Given the description of an element on the screen output the (x, y) to click on. 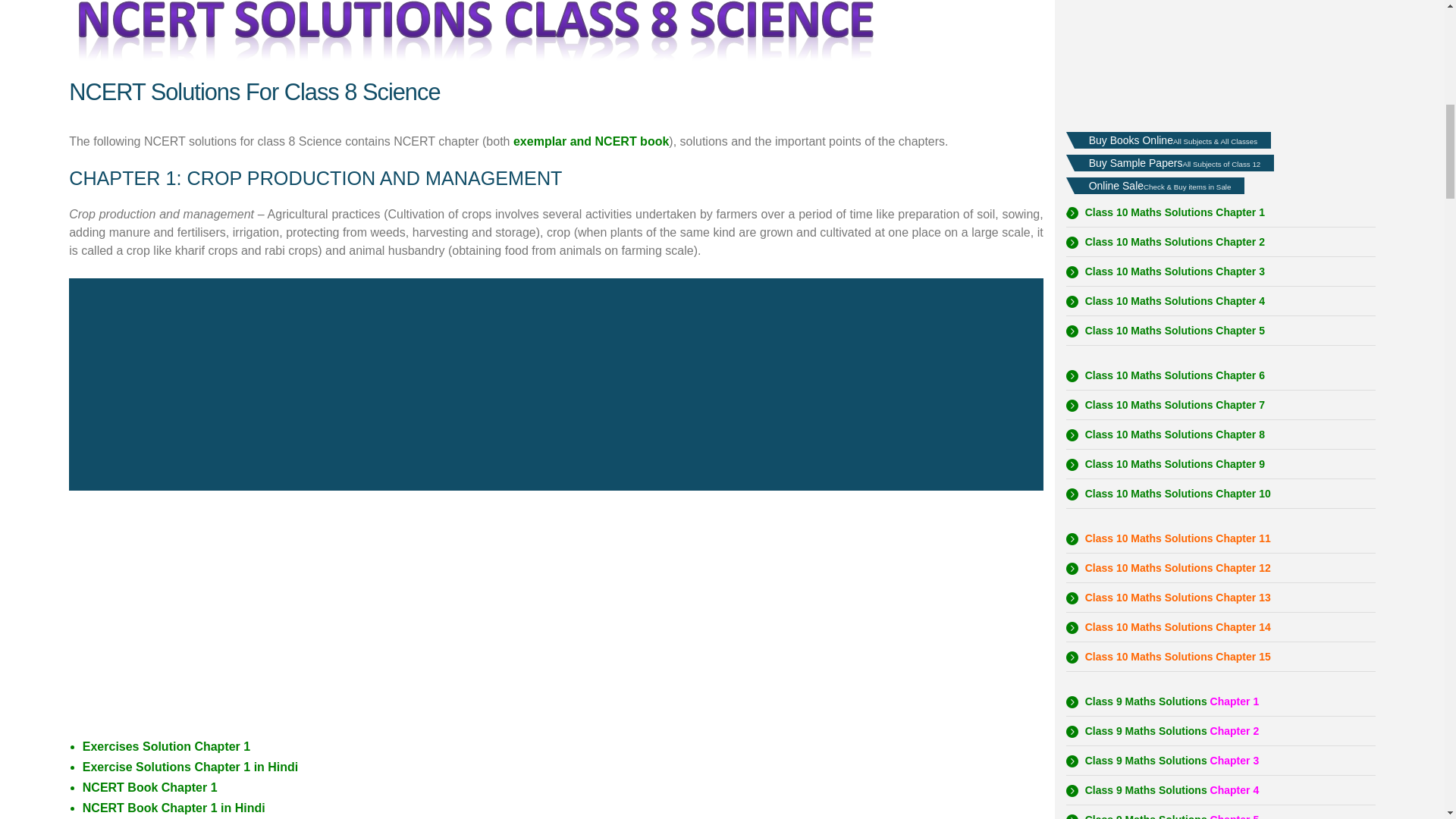
Exercise Solutions Chapter 1 in Hindi (190, 766)
Advertisement (1220, 54)
Exercises Solution Chapter 1 (166, 746)
NCERT Book Chapter 1 in Hindi (173, 807)
NCERT Book Chapter 1 (149, 787)
exemplar and NCERT book (590, 141)
